Given the description of an element on the screen output the (x, y) to click on. 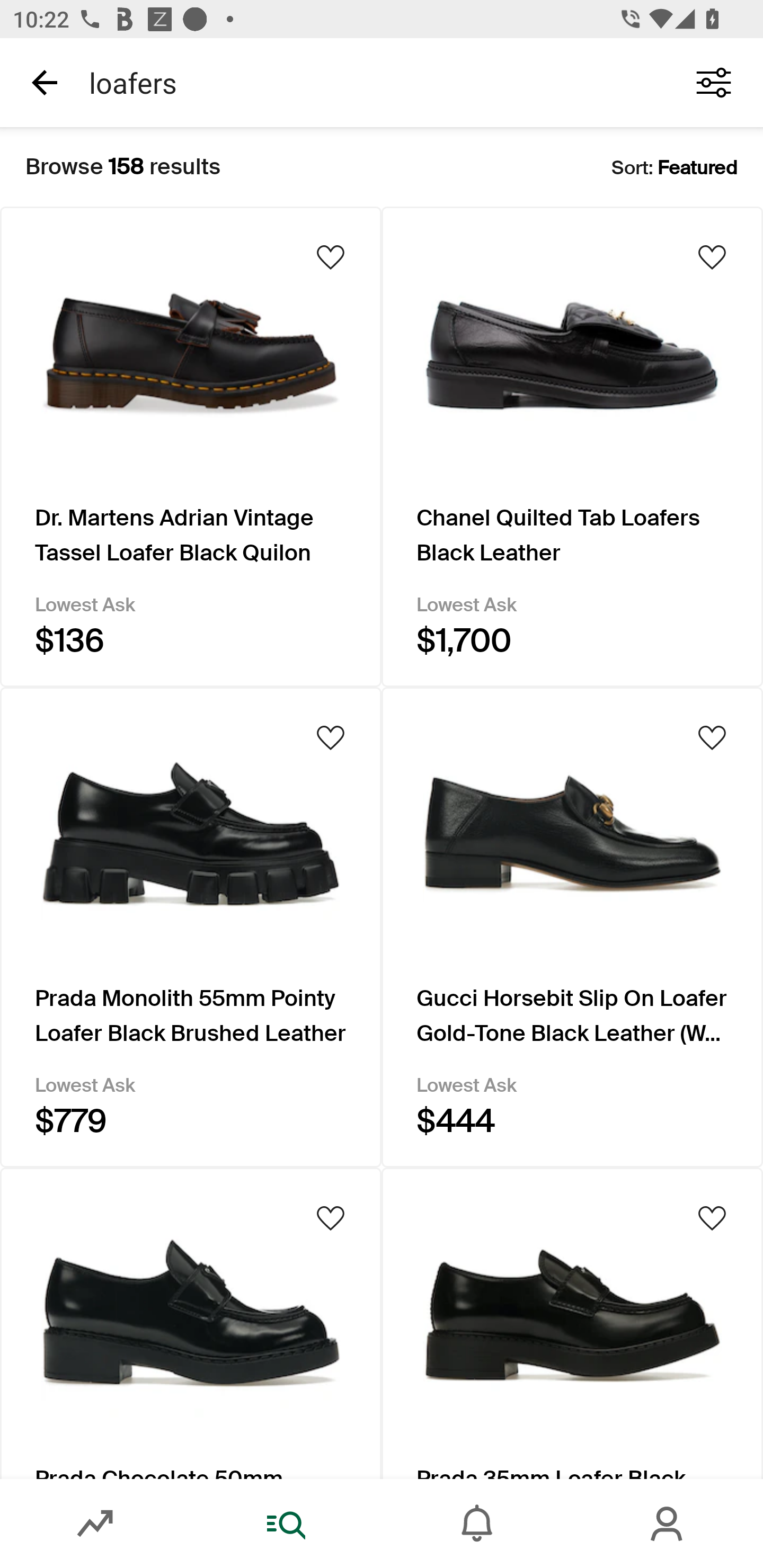
loafers (370, 82)
Market (95, 1523)
Inbox (476, 1523)
Account (667, 1523)
